Given the description of an element on the screen output the (x, y) to click on. 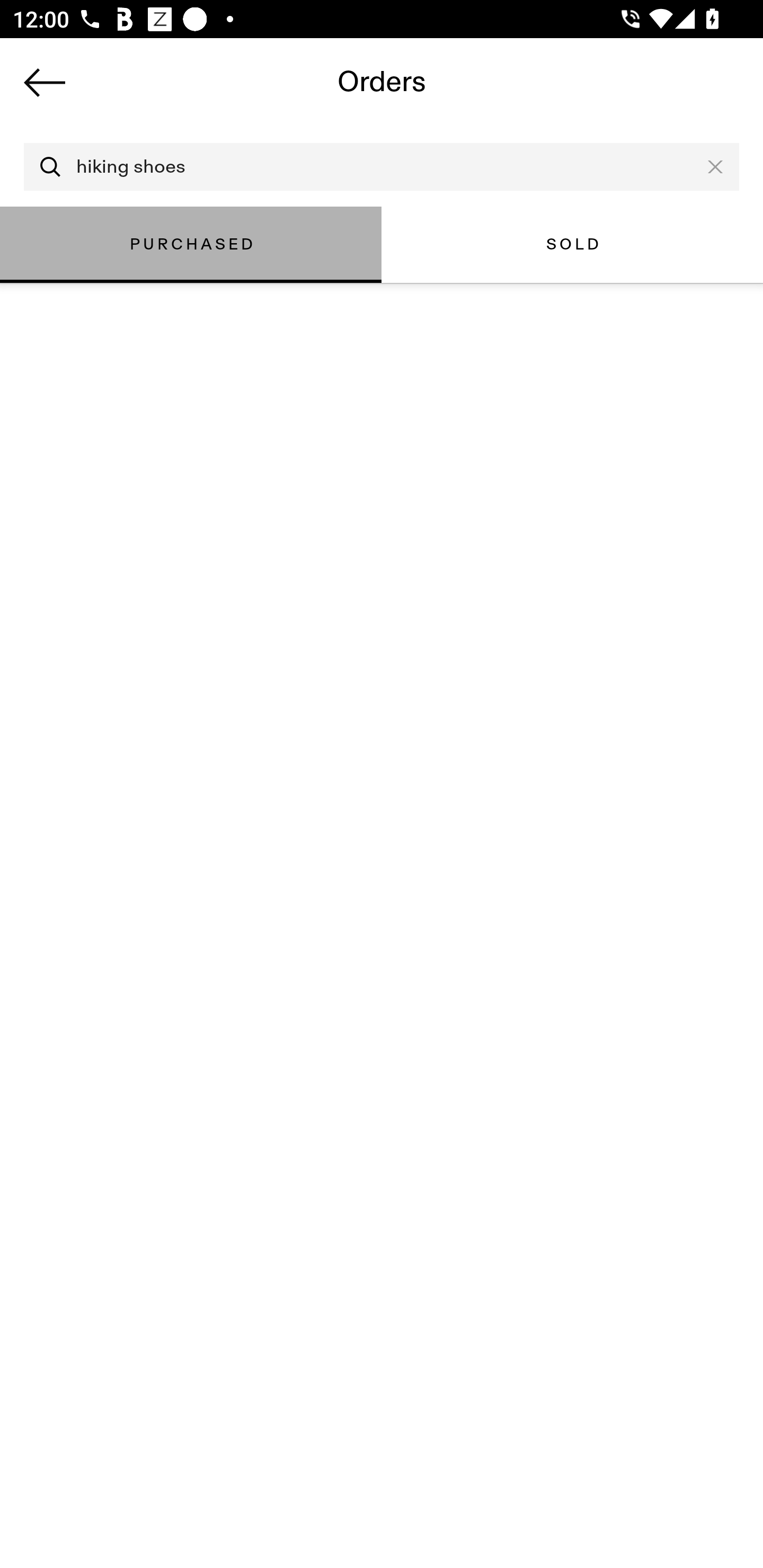
Navigate up (44, 82)
hiking shoes (381, 166)
SOLD (572, 244)
